Given the description of an element on the screen output the (x, y) to click on. 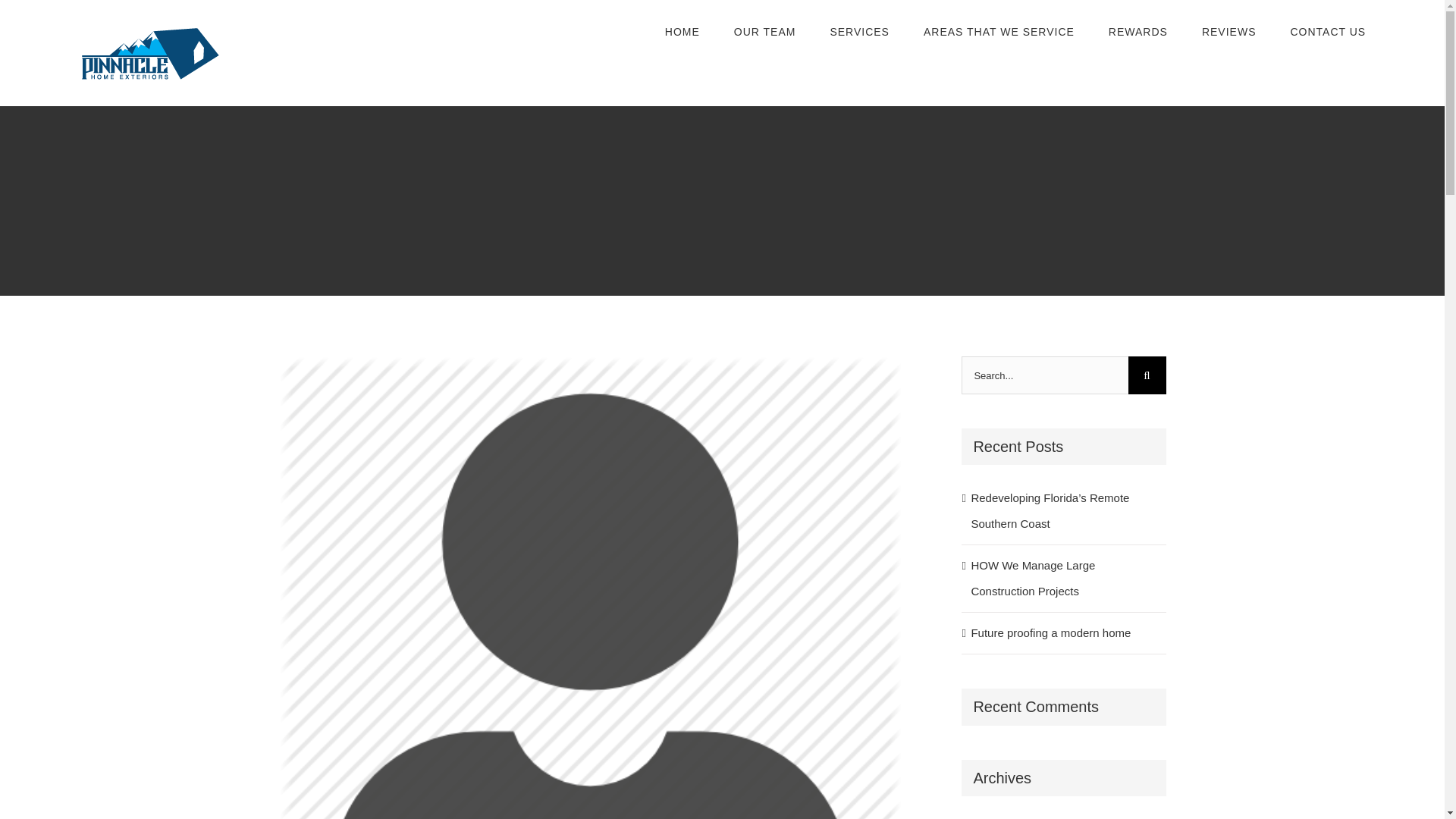
REWARDS (1137, 31)
AREAS THAT WE SERVICE (998, 31)
OUR TEAM (764, 31)
SERVICES (859, 31)
CONTACT US (1327, 31)
